Given the description of an element on the screen output the (x, y) to click on. 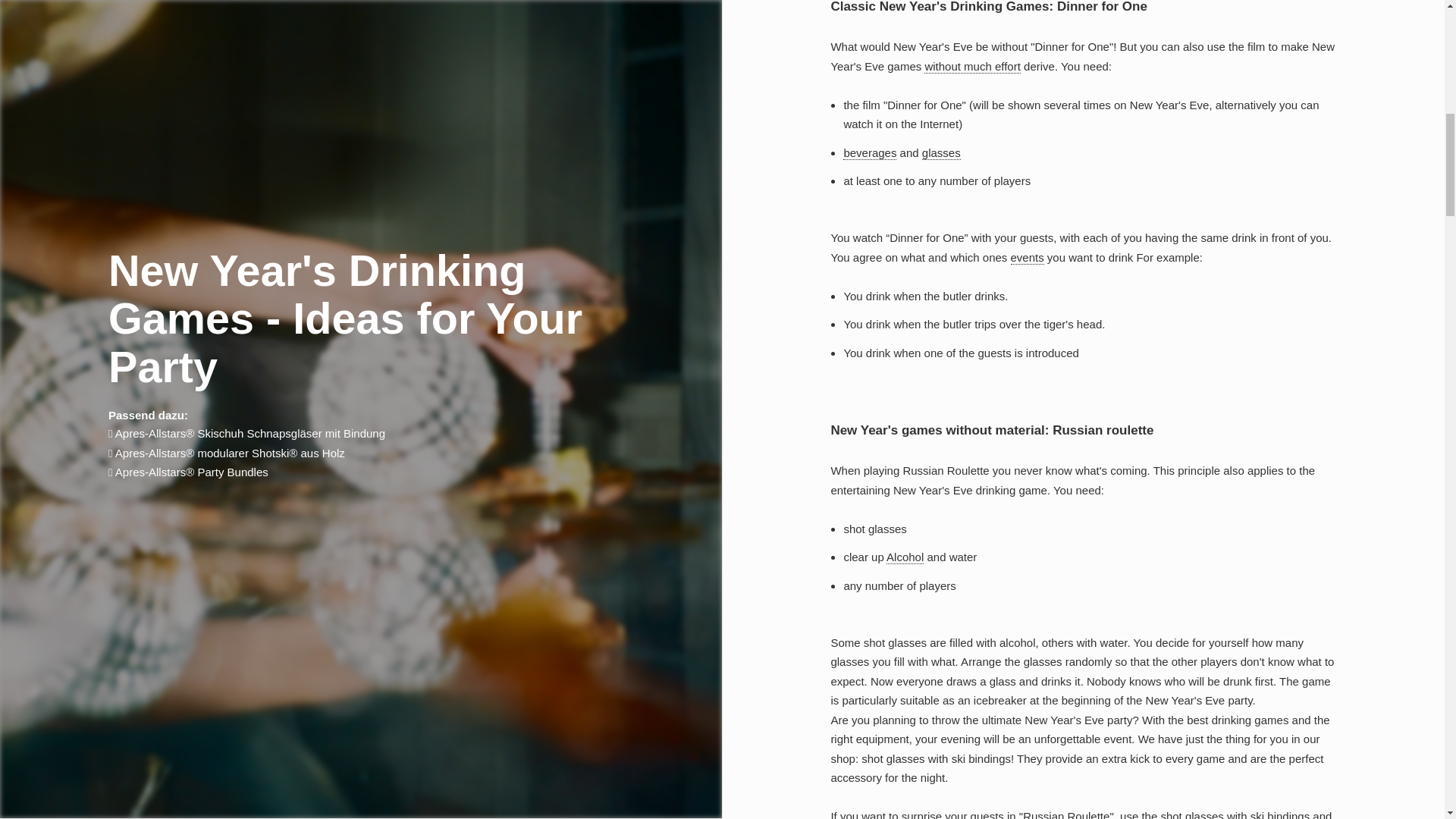
gehobene Drinks (869, 152)
trinkspiel aufgaben (1026, 257)
trinkspiele dyi (972, 66)
